Given the description of an element on the screen output the (x, y) to click on. 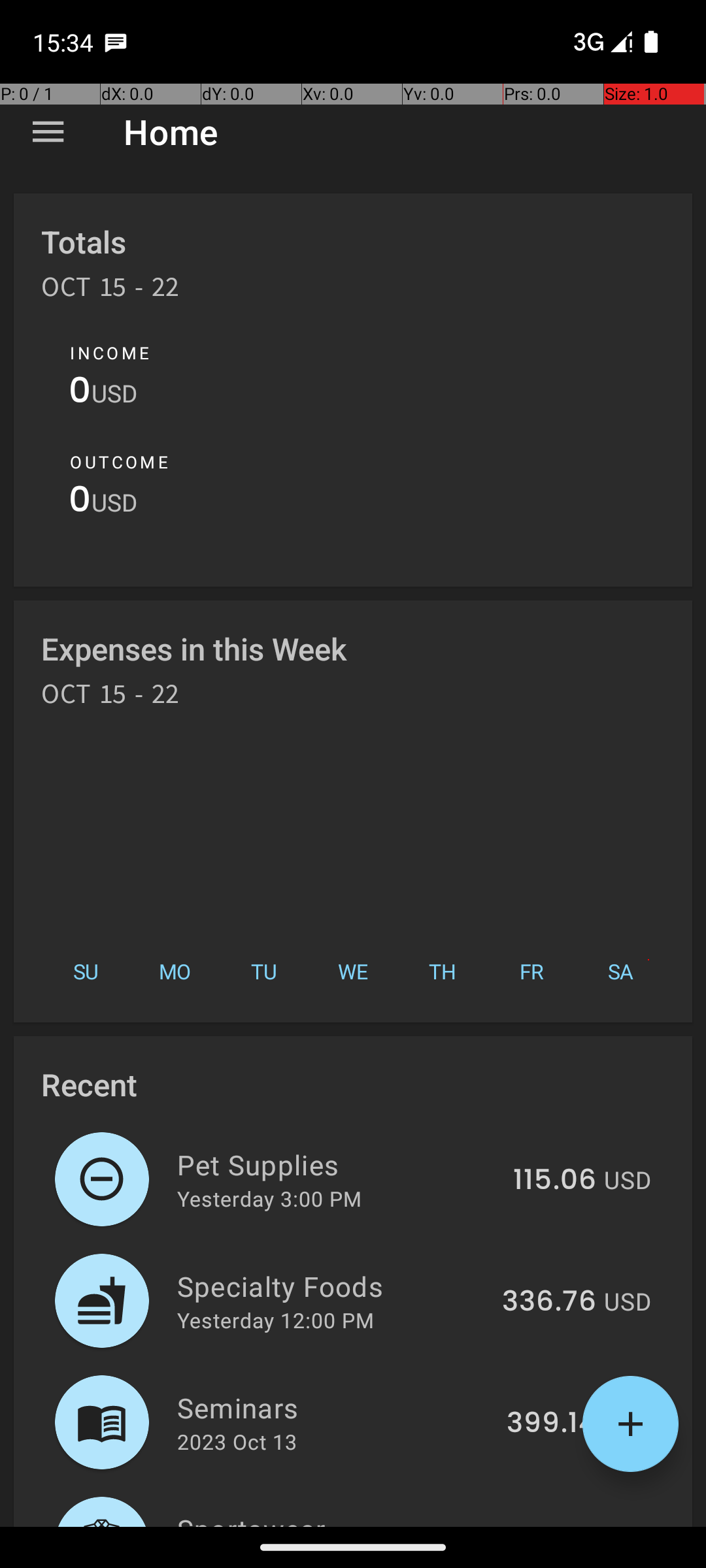
Pet Supplies Element type: android.widget.TextView (337, 1164)
Yesterday 3:00 PM Element type: android.widget.TextView (269, 1198)
115.06 Element type: android.widget.TextView (554, 1180)
Yesterday 12:00 PM Element type: android.widget.TextView (275, 1320)
336.76 Element type: android.widget.TextView (548, 1301)
Seminars Element type: android.widget.TextView (334, 1407)
399.14 Element type: android.widget.TextView (550, 1423)
Sportswear Element type: android.widget.TextView (337, 1518)
190.91 Element type: android.widget.TextView (554, 1524)
SMS Messenger notification: Martin Chen Element type: android.widget.ImageView (115, 41)
